Given the description of an element on the screen output the (x, y) to click on. 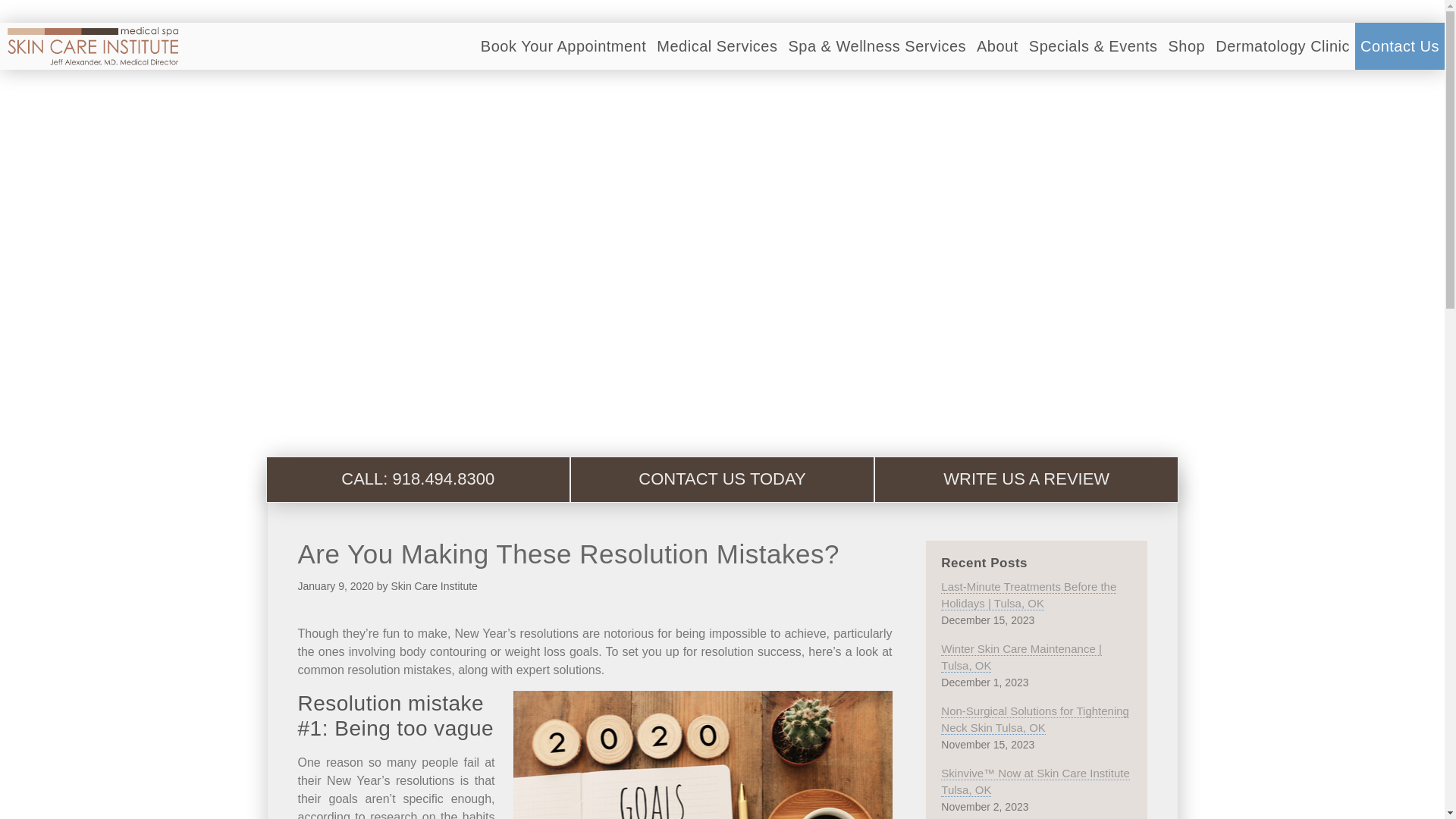
Medical Services (716, 45)
Book Your Appointment (563, 45)
SKIN CARE INSTITUTE (96, 46)
About (997, 45)
